Given the description of an element on the screen output the (x, y) to click on. 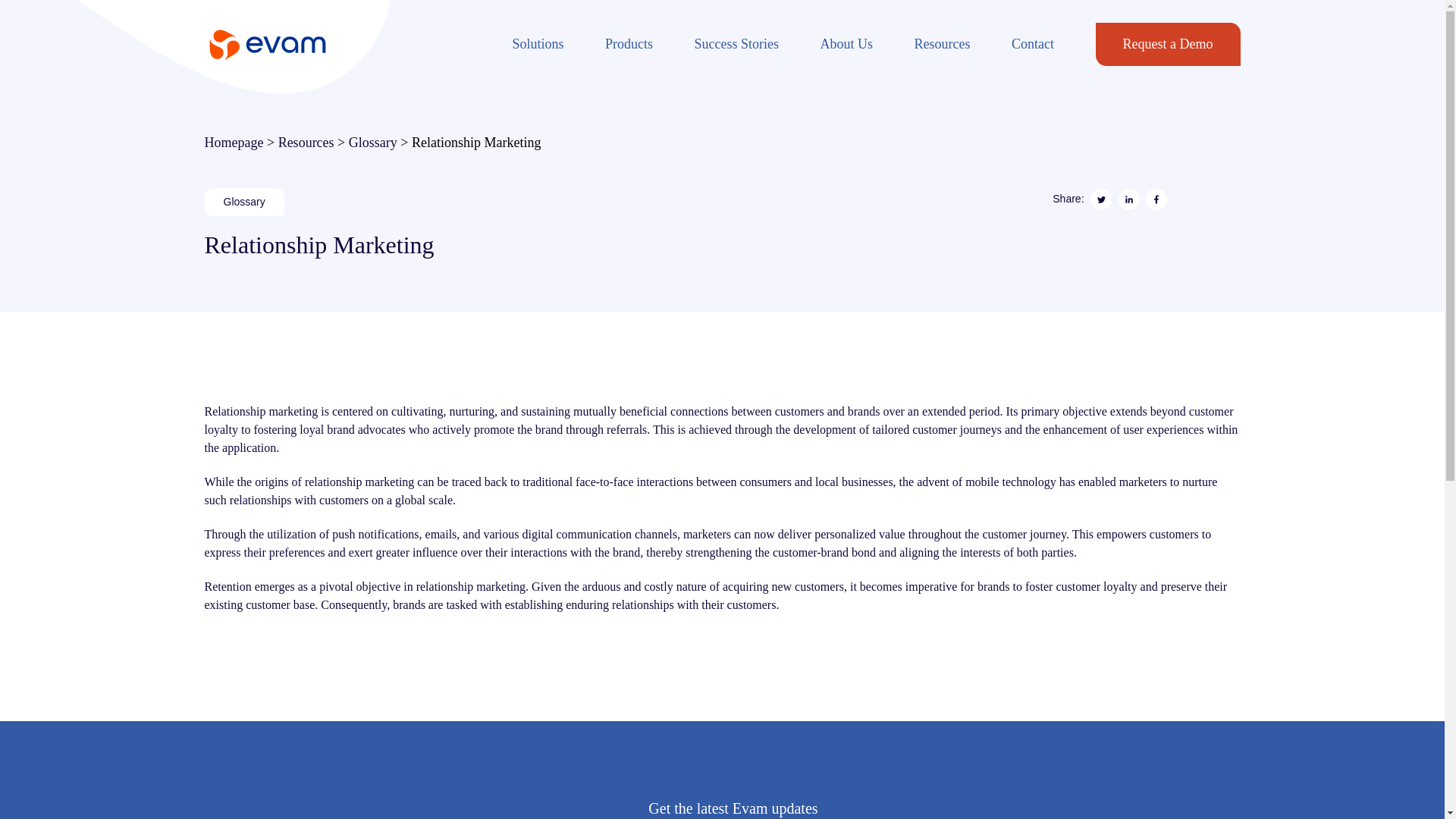
Request a Demo (1168, 44)
Resources (942, 43)
Products (628, 43)
Homepage (234, 142)
Contact (1032, 43)
Solutions (538, 43)
Success Stories (736, 43)
About Us (847, 43)
Glossary (373, 142)
Resources (306, 142)
